Given the description of an element on the screen output the (x, y) to click on. 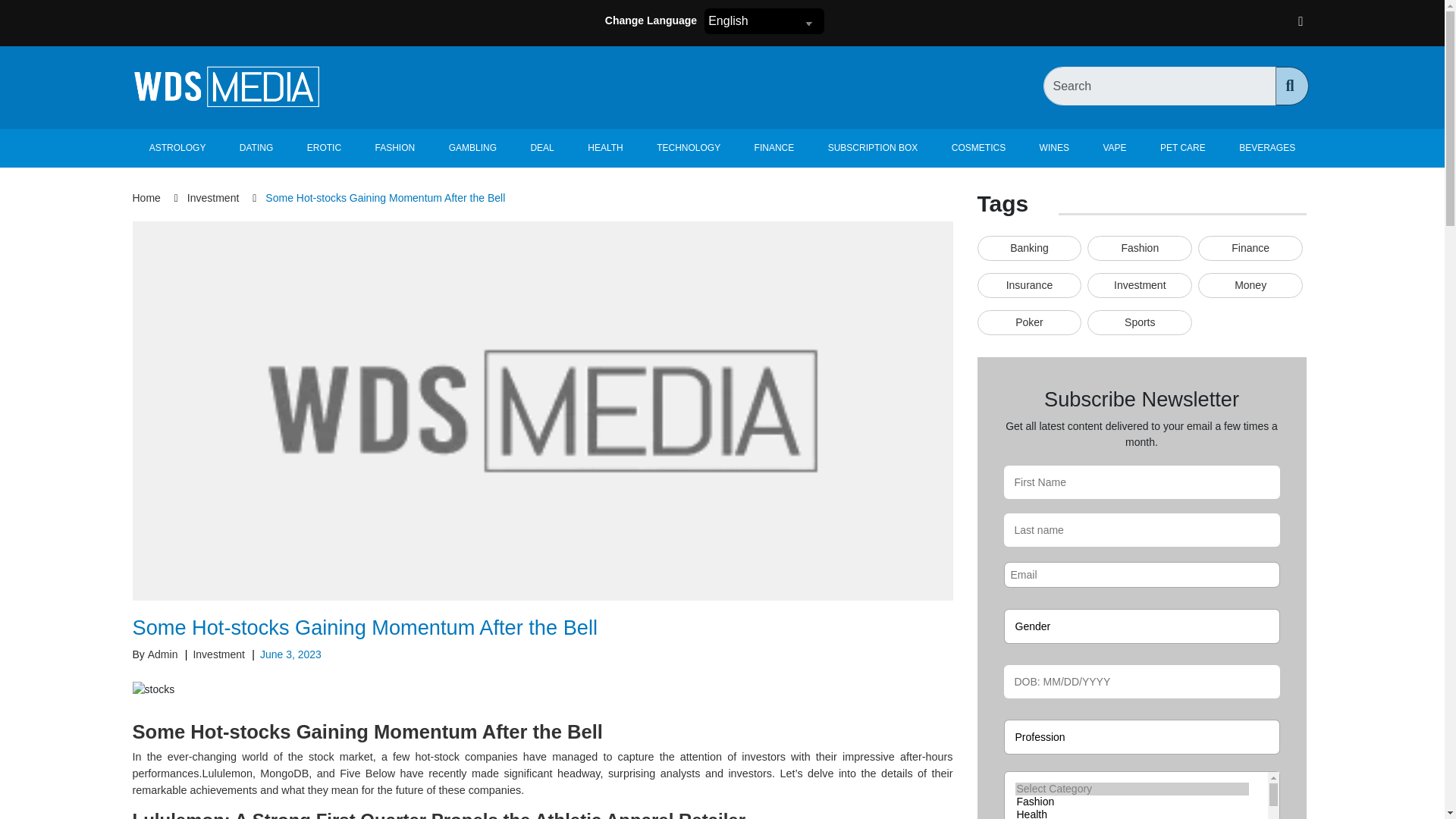
FINANCE (773, 147)
DEAL (541, 147)
DATING (255, 147)
BEVERAGES (1267, 147)
FASHION (394, 147)
GAMBLING (471, 147)
ASTROLOGY (177, 147)
TECHNOLOGY (688, 147)
WINES (1054, 147)
COSMETICS (978, 147)
